Given the description of an element on the screen output the (x, y) to click on. 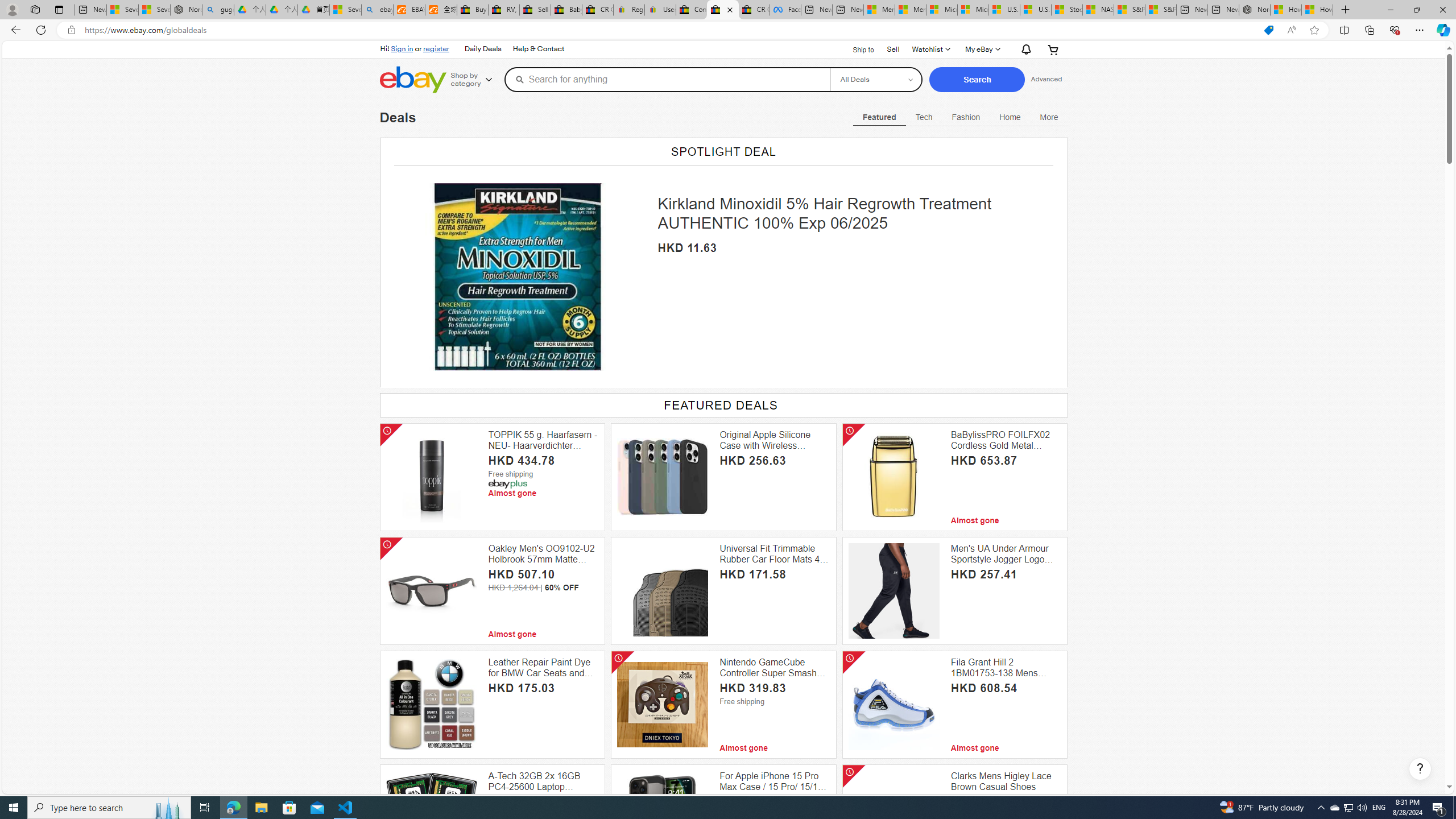
My eBay (982, 49)
Featured Current View (879, 116)
Restore (1416, 9)
Refresh (40, 29)
